Given the description of an element on the screen output the (x, y) to click on. 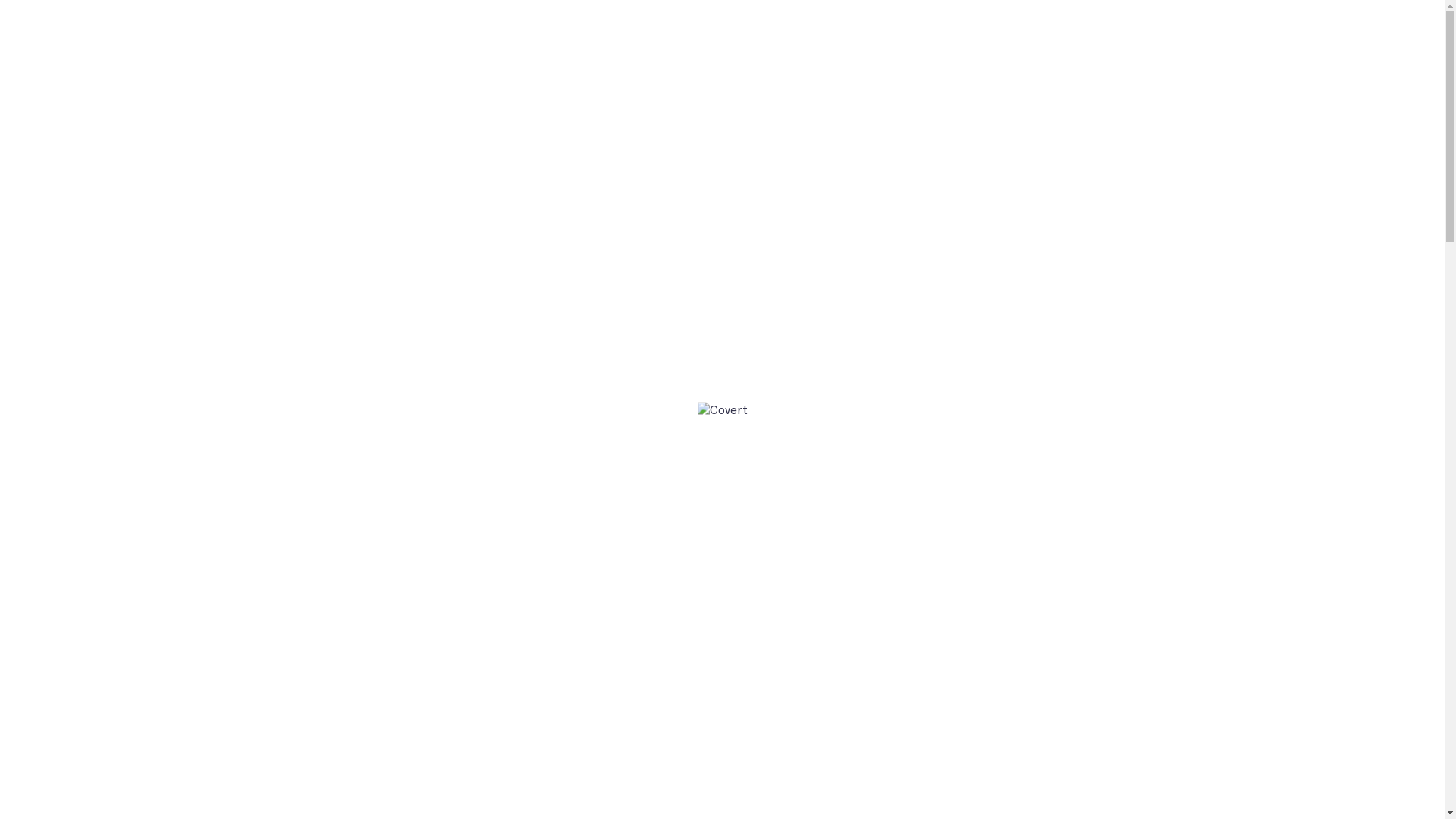
Skip to content Element type: text (0, 0)
